Given the description of an element on the screen output the (x, y) to click on. 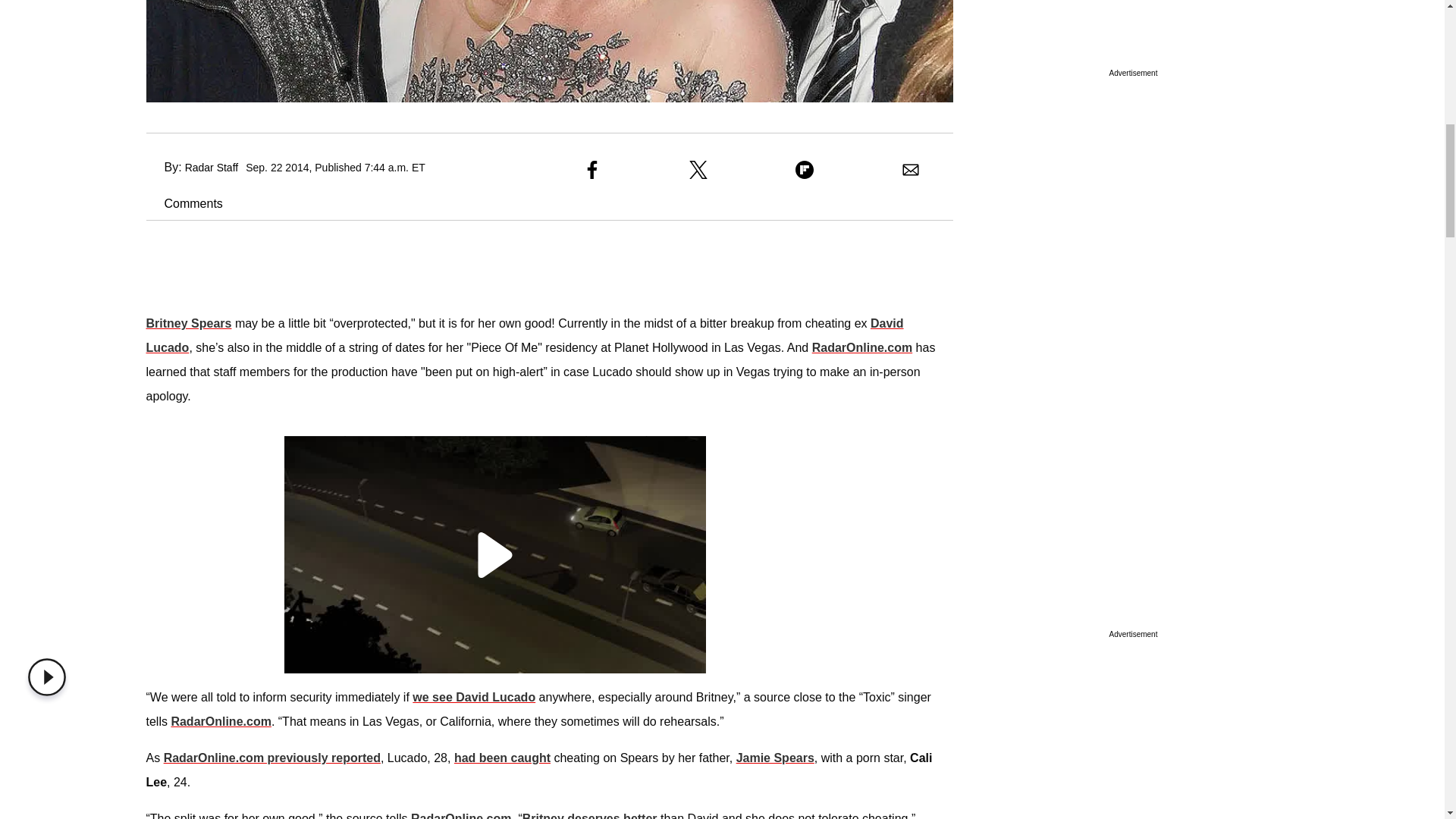
Radar Staff (211, 167)
we see David Lucado (473, 697)
David Lucado (523, 334)
had been caught (502, 757)
RadarOnline.com (460, 815)
Share to X (697, 169)
Britney Spears (188, 323)
Jamie Spears (774, 757)
Share to Email (909, 169)
Comments (183, 203)
Britney deserves better (590, 815)
RadarOnline.com (862, 347)
RadarOnline.com previously reported (271, 757)
Share to Facebook (590, 169)
